Given the description of an element on the screen output the (x, y) to click on. 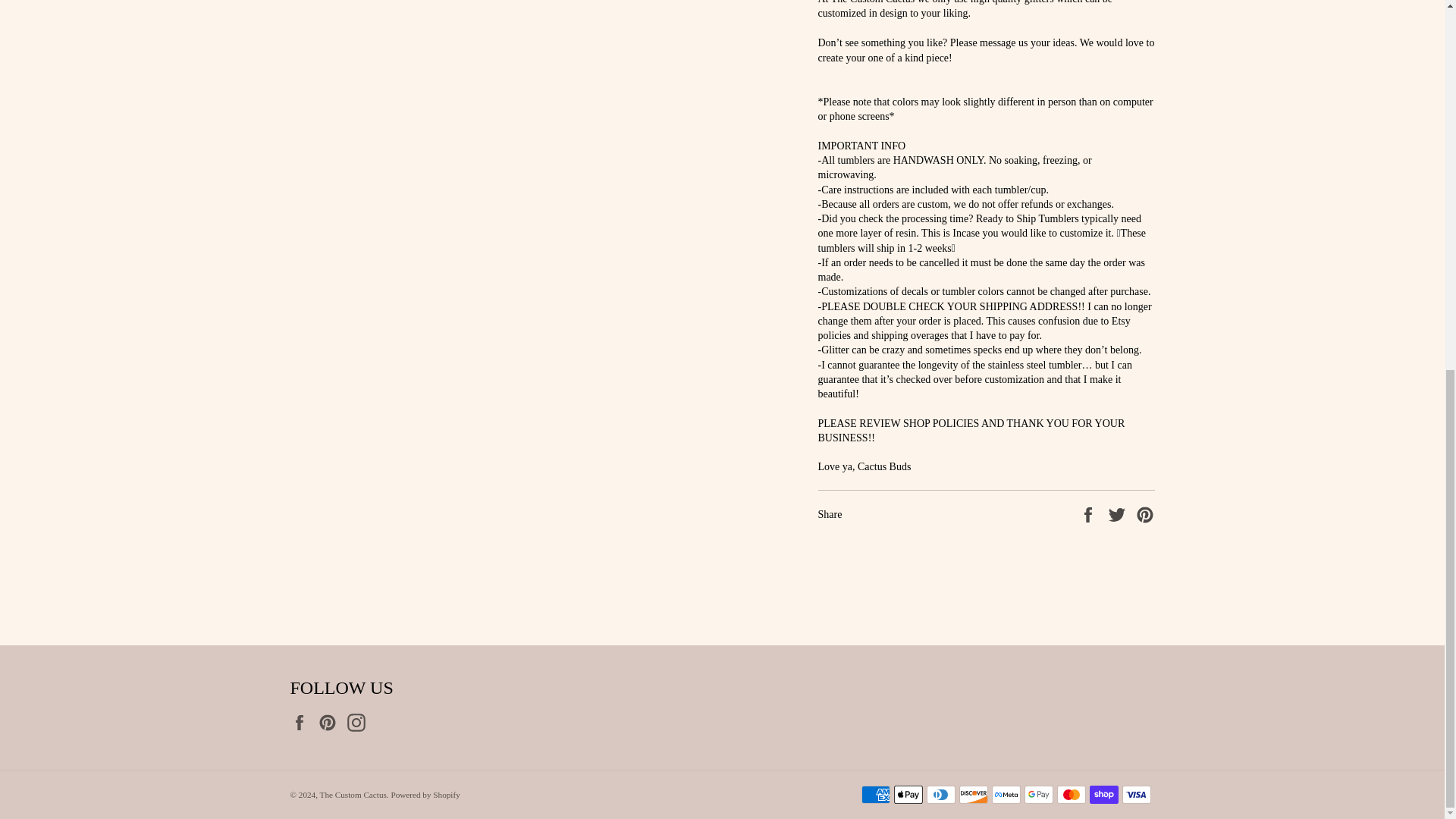
Share on Facebook (1089, 513)
The Custom Cactus on Instagram (359, 722)
The Custom Cactus on Pinterest (330, 722)
Pin on Pinterest (1144, 513)
The Custom Cactus on Facebook (302, 722)
Tweet on Twitter (1118, 513)
